Given the description of an element on the screen output the (x, y) to click on. 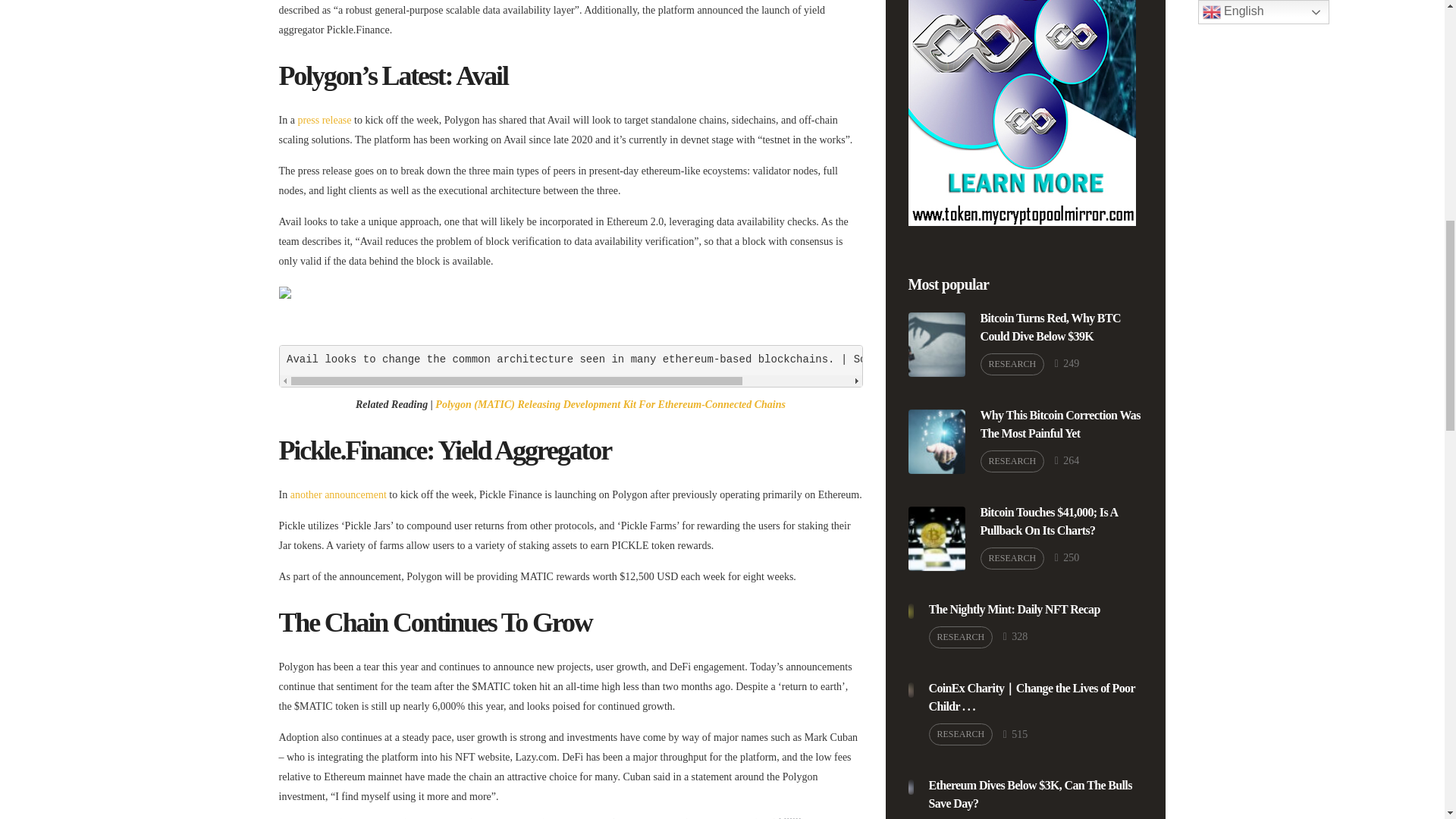
another announcement (338, 493)
press release (323, 120)
Polygon Medium (949, 358)
